Given the description of an element on the screen output the (x, y) to click on. 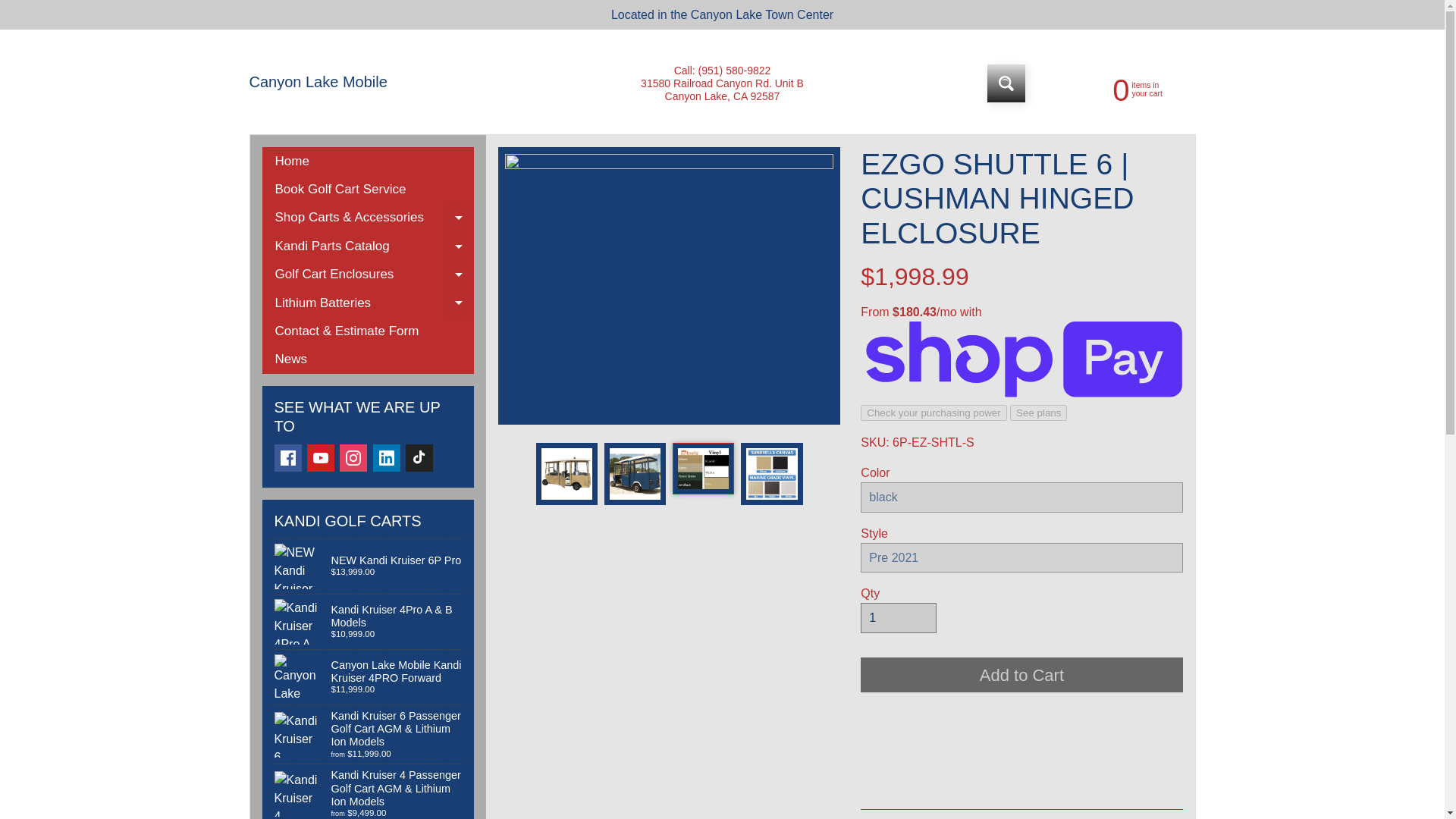
Canyon Lake Mobile Kandi Kruiser 4PRO Forward (1122, 88)
TikTok (369, 677)
Canyon Lake Mobile (419, 457)
Youtube (317, 81)
Search (320, 457)
Facebook (1006, 83)
Expand child menu (288, 457)
LinkedIn (459, 217)
Home (386, 457)
